Given the description of an element on the screen output the (x, y) to click on. 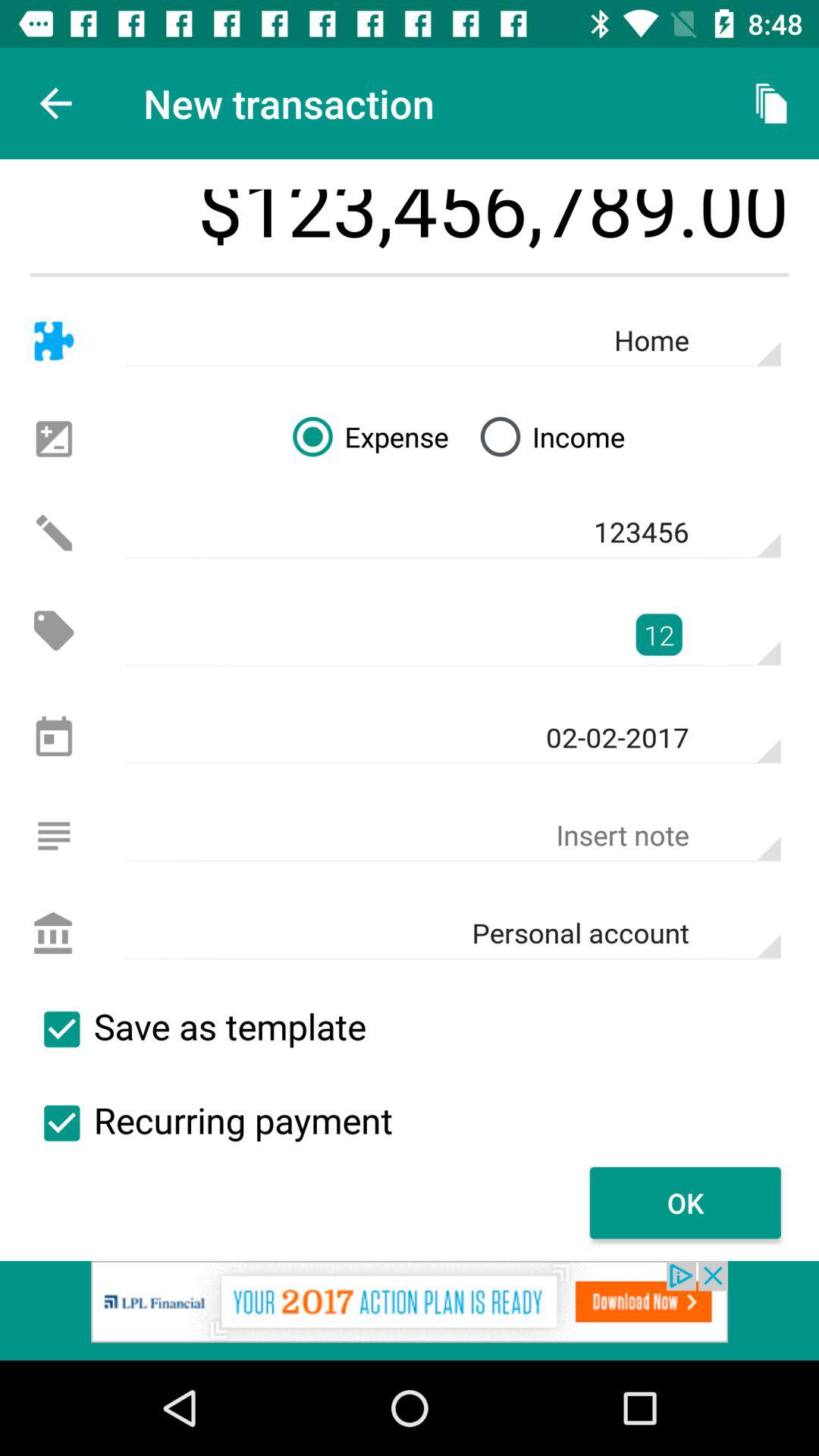
toggle recurring payment (61, 1123)
